Given the description of an element on the screen output the (x, y) to click on. 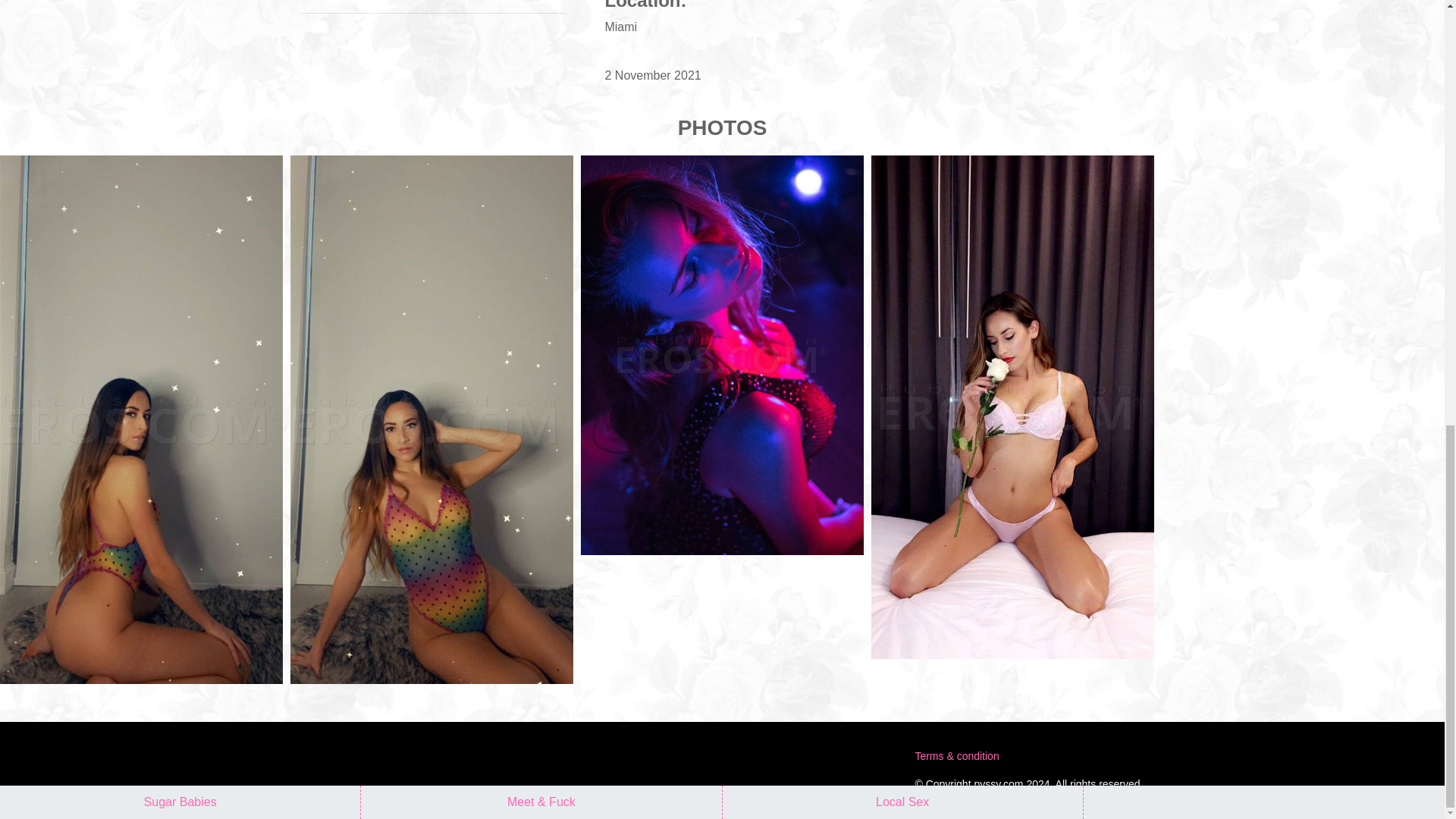
Miami Escorts (721, 355)
